Given the description of an element on the screen output the (x, y) to click on. 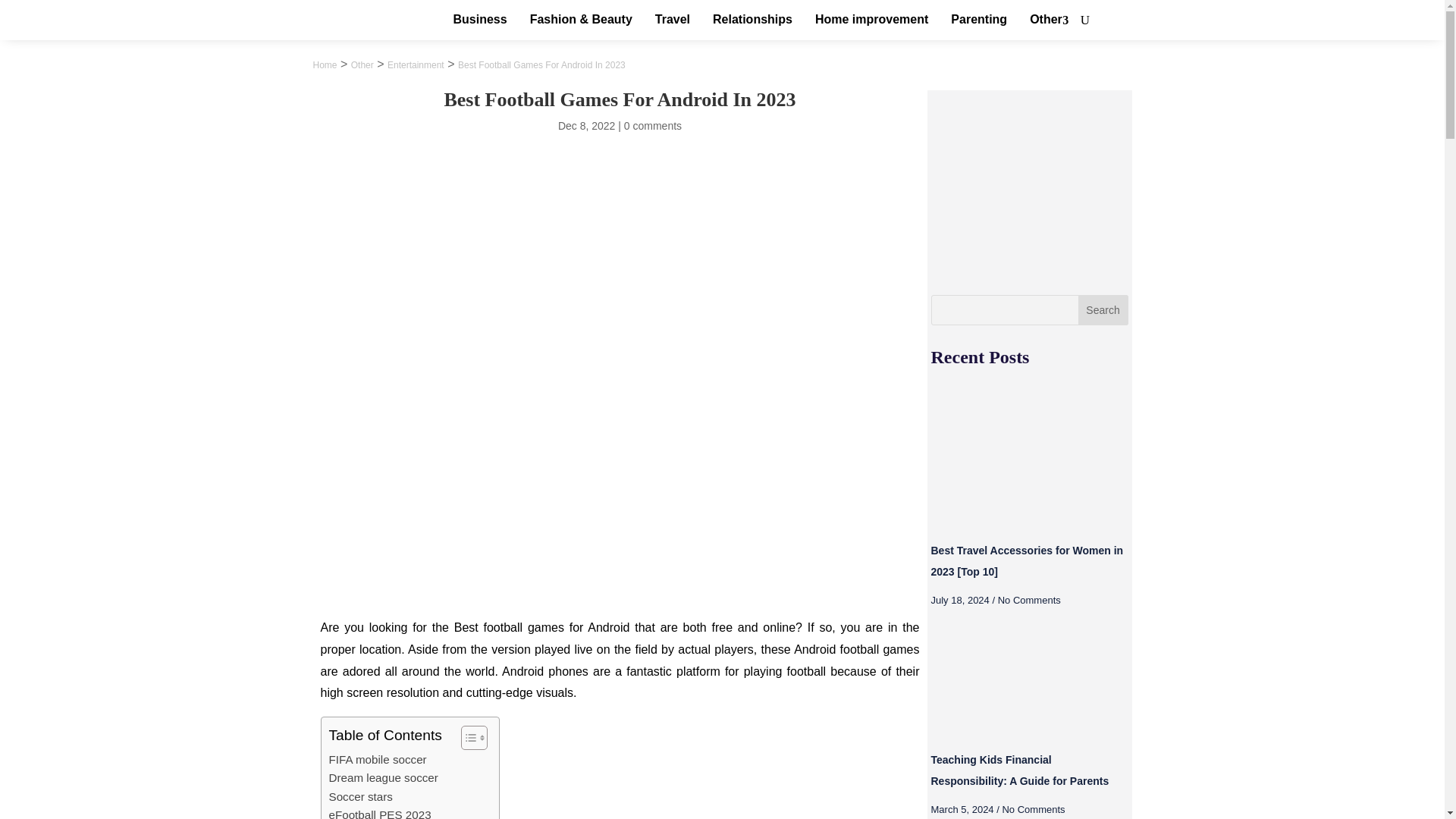
eFootball PES 2023 (379, 812)
Other (362, 64)
Parenting (978, 20)
Go to the Entertainment Category archives. (415, 64)
Home improvement (871, 20)
Dream league soccer (383, 778)
FIFA mobile soccer (377, 760)
Entertainment (415, 64)
Go to Reademall. (324, 64)
Travel (672, 20)
Dream league soccer (383, 778)
Other (1045, 20)
Business (480, 20)
Relationships (752, 20)
eFootball PES 2023 (379, 812)
